Given the description of an element on the screen output the (x, y) to click on. 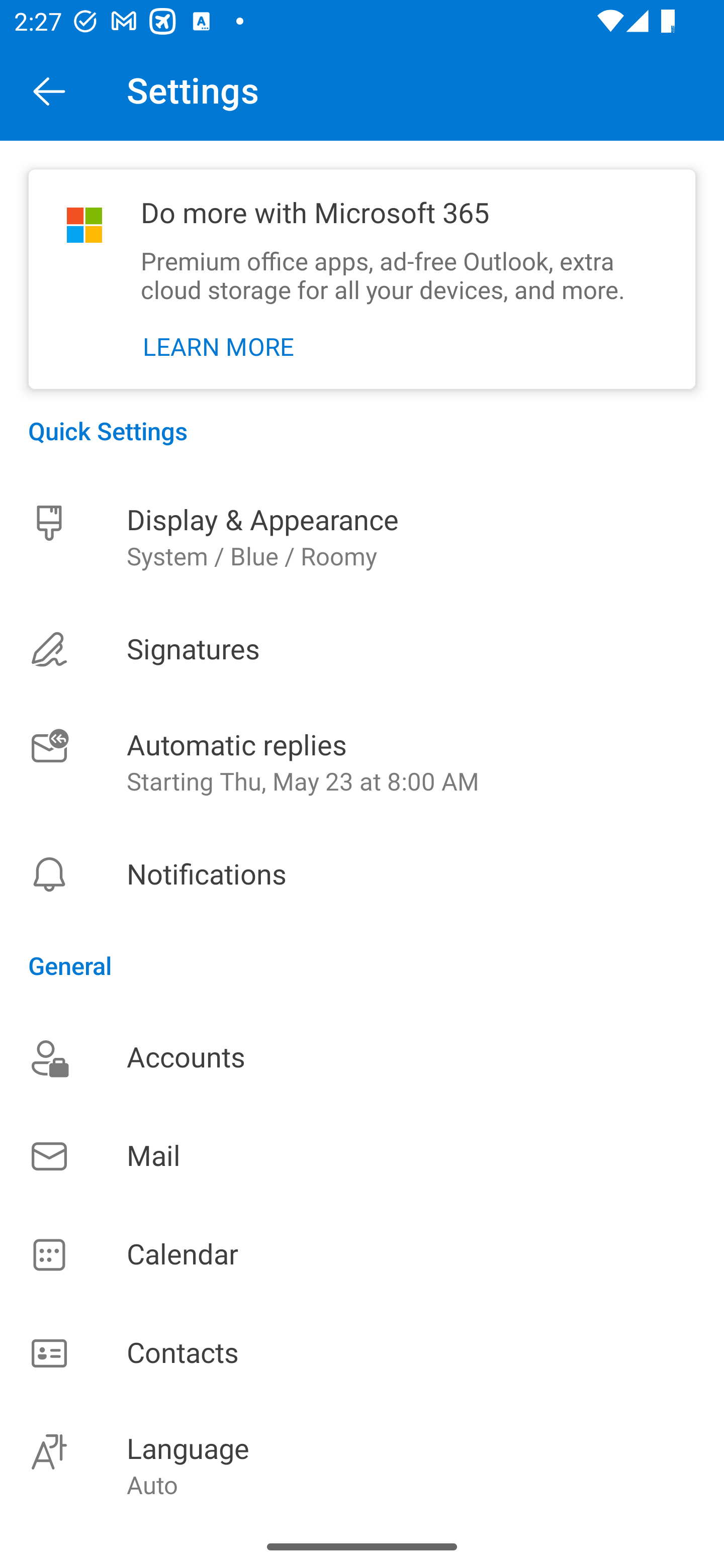
Back (49, 90)
LEARN MORE (218, 346)
Display & Appearance System / Blue / Roomy (362, 536)
Signatures (362, 649)
Automatic replies Starting Thu, May 23 at 8:00 AM (362, 762)
Notifications (362, 874)
Accounts (362, 1057)
Mail (362, 1156)
Calendar (362, 1254)
Contacts (362, 1353)
Language Auto (362, 1464)
